Given the description of an element on the screen output the (x, y) to click on. 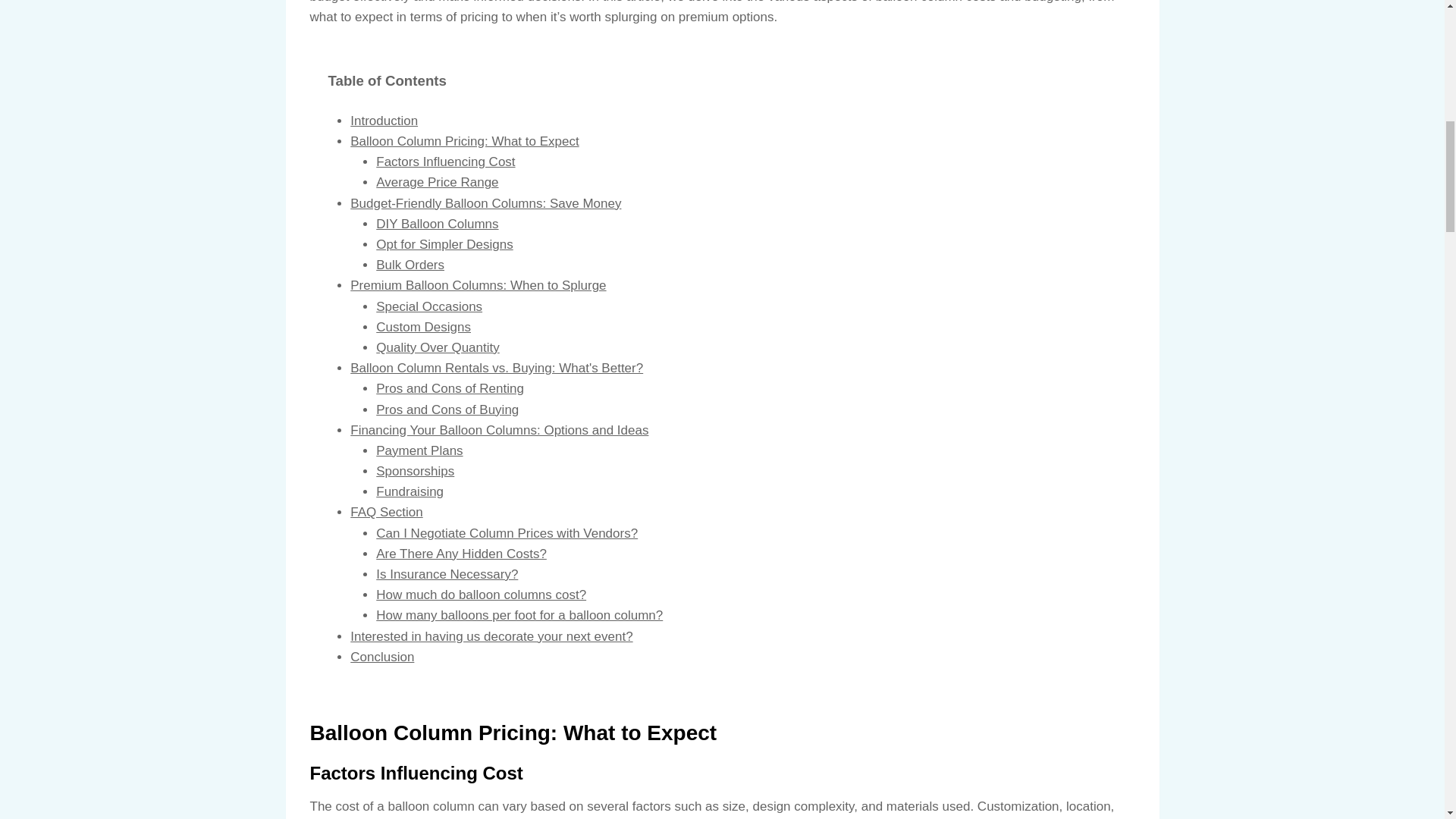
Balloon Column Pricing: What to Expect (464, 141)
Budget-Friendly Balloon Columns: Save Money (485, 203)
Average Price Range (436, 182)
Factors Influencing Cost (445, 161)
Introduction (383, 120)
Opt for Simpler Designs (443, 244)
DIY Balloon Columns (436, 223)
Bulk Orders (409, 264)
